Given the description of an element on the screen output the (x, y) to click on. 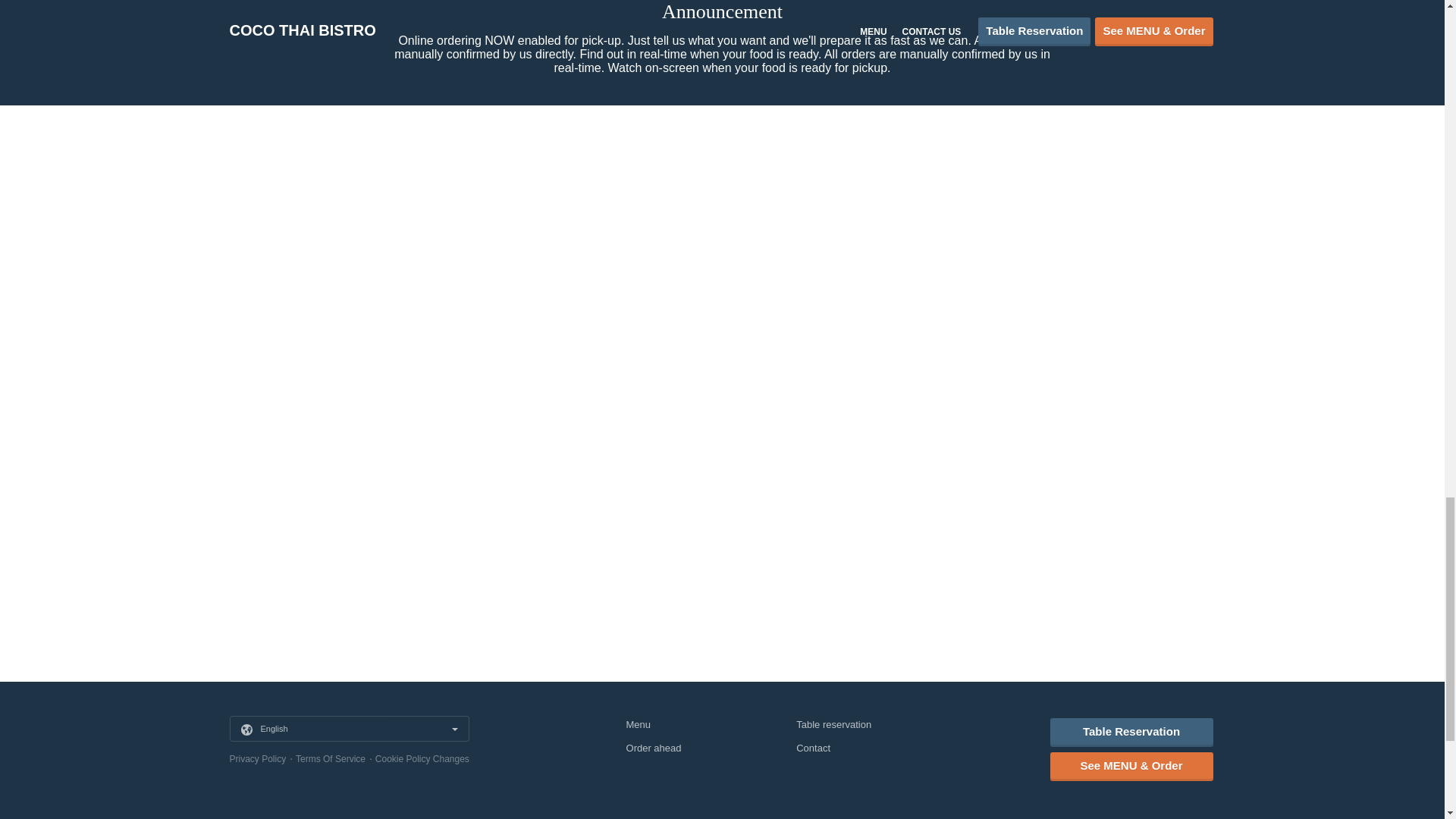
Table reservation (833, 724)
Menu (638, 724)
Cookie Policy Changes (421, 758)
Terms Of Service (330, 758)
Privacy Policy (256, 758)
Order ahead (653, 747)
Contact (812, 747)
